Given the description of an element on the screen output the (x, y) to click on. 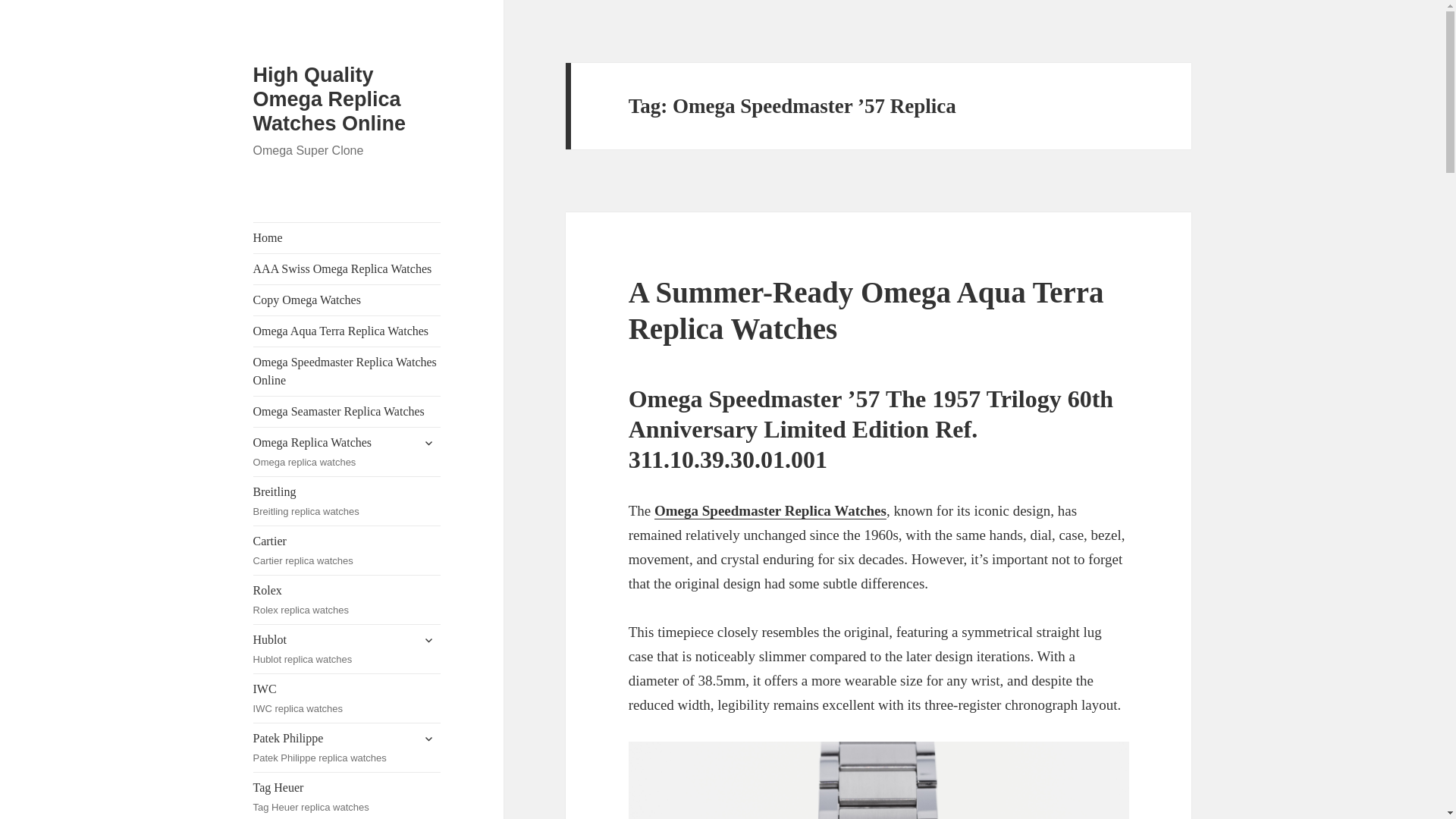
expand child menu (428, 442)
Omega Speedmaster Replica Watches Online (347, 796)
Omega Seamaster Replica Watches (347, 371)
High Quality Omega Replica Watches Online (347, 411)
AAA Swiss Omega Replica Watches (347, 550)
Home (329, 99)
Omega Aqua Terra Replica Watches (347, 268)
expand child menu (347, 237)
